Given the description of an element on the screen output the (x, y) to click on. 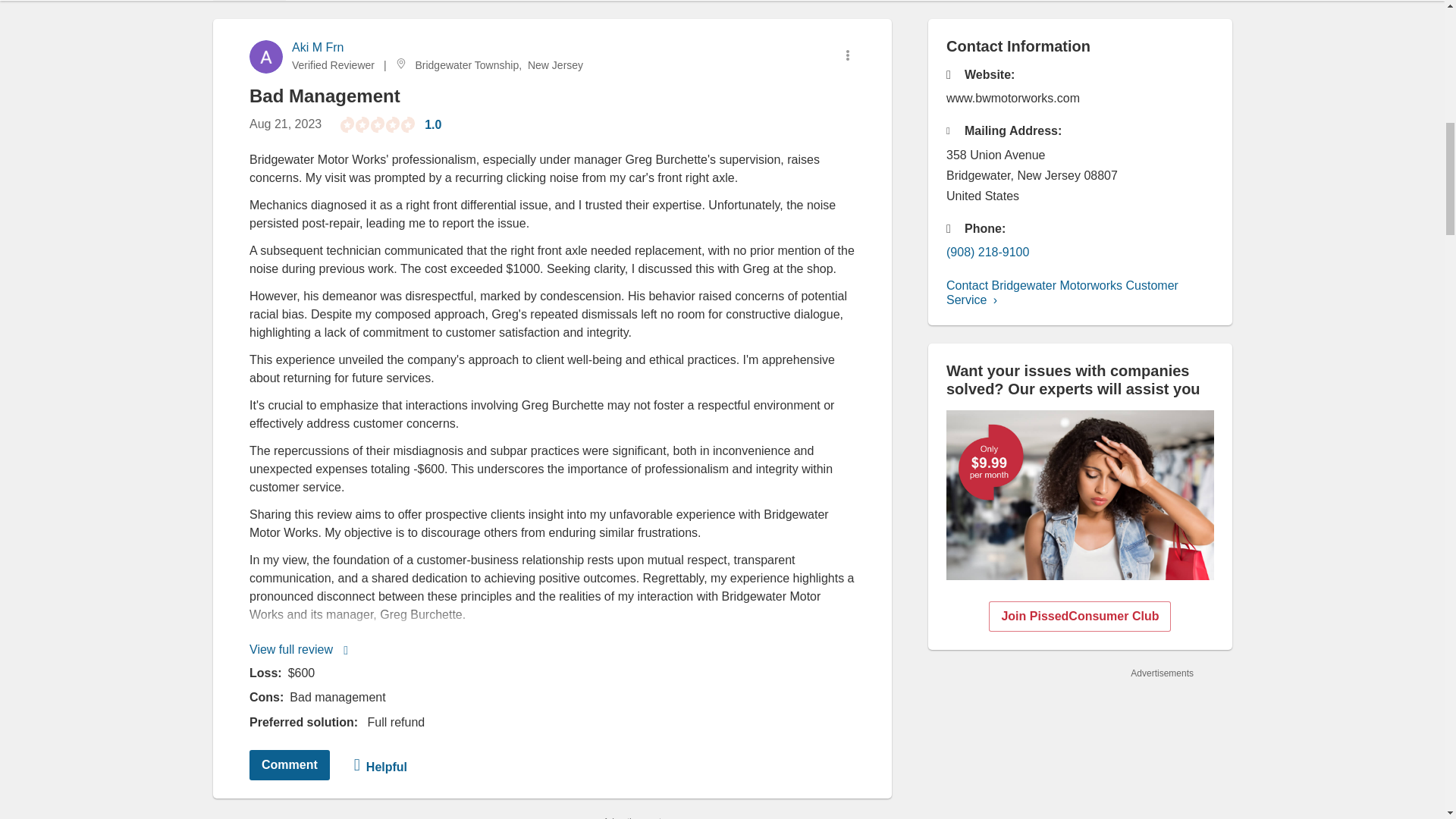
Aki M Frn - Profile Info (316, 47)
Aki M Frn (316, 47)
Contact Bridgewater Motorworks Customer Service (1061, 292)
Contact Customer Service (1061, 292)
